Given the description of an element on the screen output the (x, y) to click on. 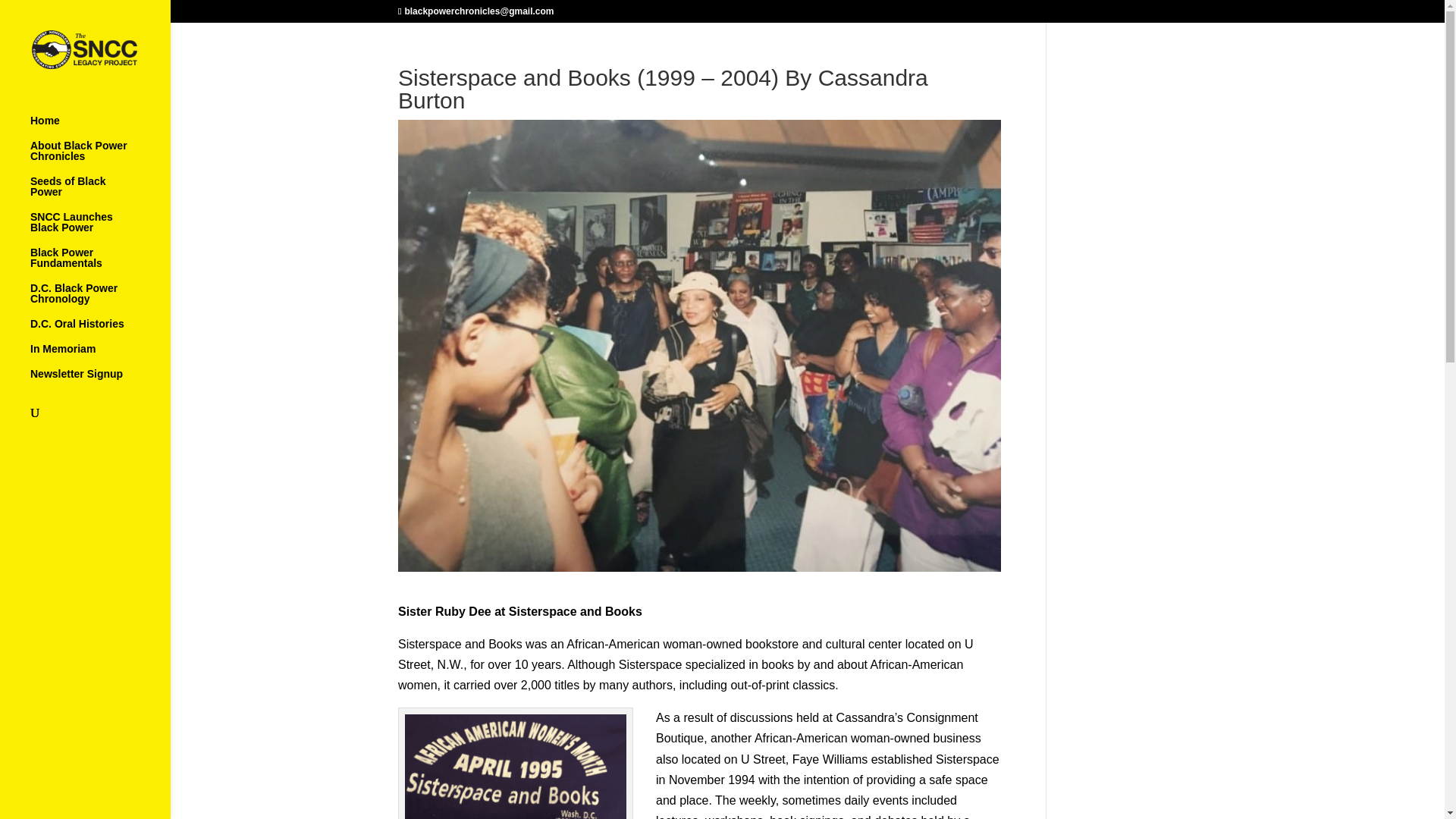
Newsletter Signup (100, 380)
In Memoriam (100, 355)
D.C. Oral Histories (100, 330)
About Black Power Chronicles (100, 158)
Home (100, 127)
SNCC Launches Black Power (100, 229)
Seeds of Black Power (100, 193)
D.C. Black Power Chronology (100, 300)
Black Power Fundamentals (100, 264)
